Given the description of an element on the screen output the (x, y) to click on. 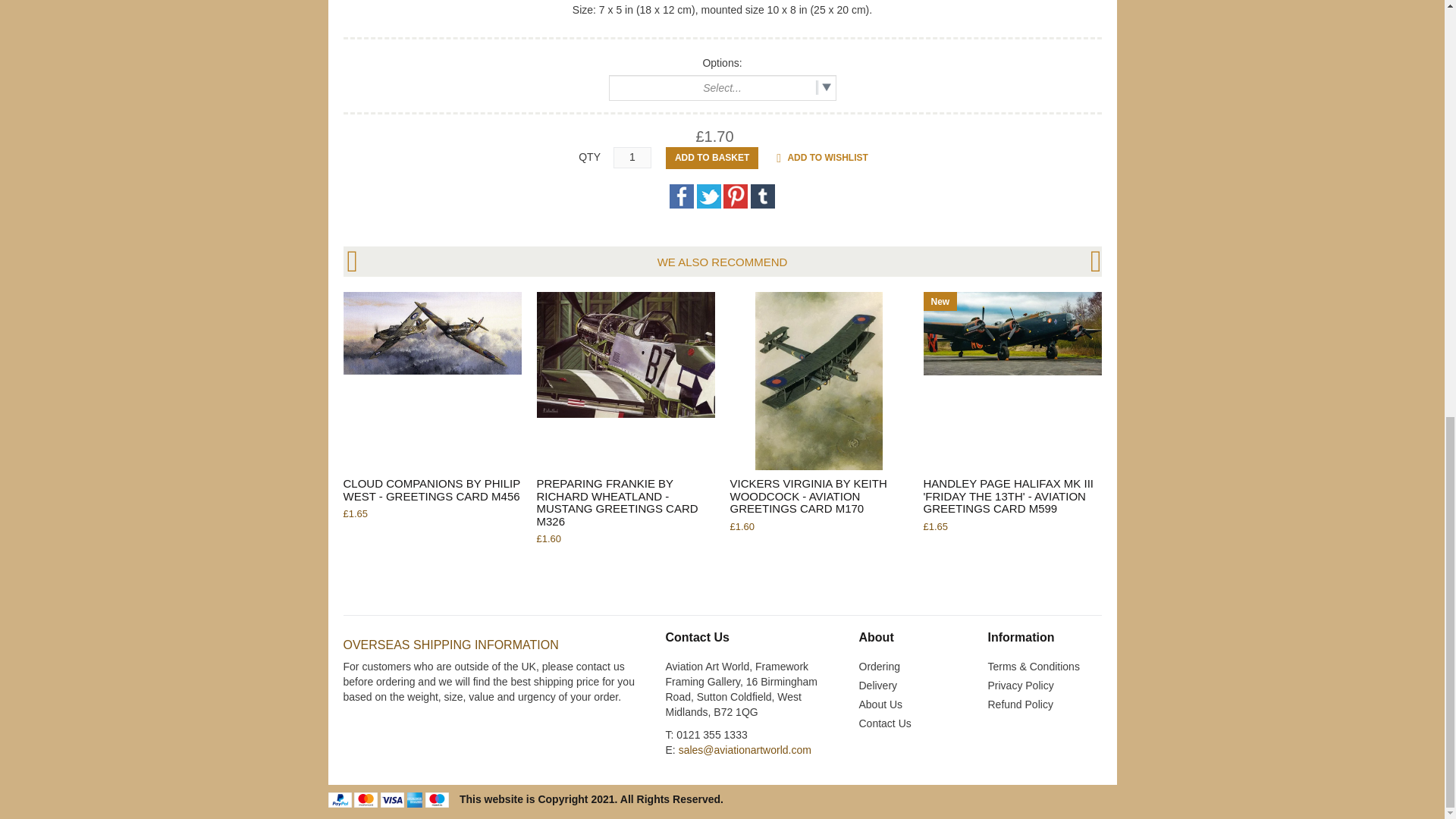
1 (631, 157)
